Given the description of an element on the screen output the (x, y) to click on. 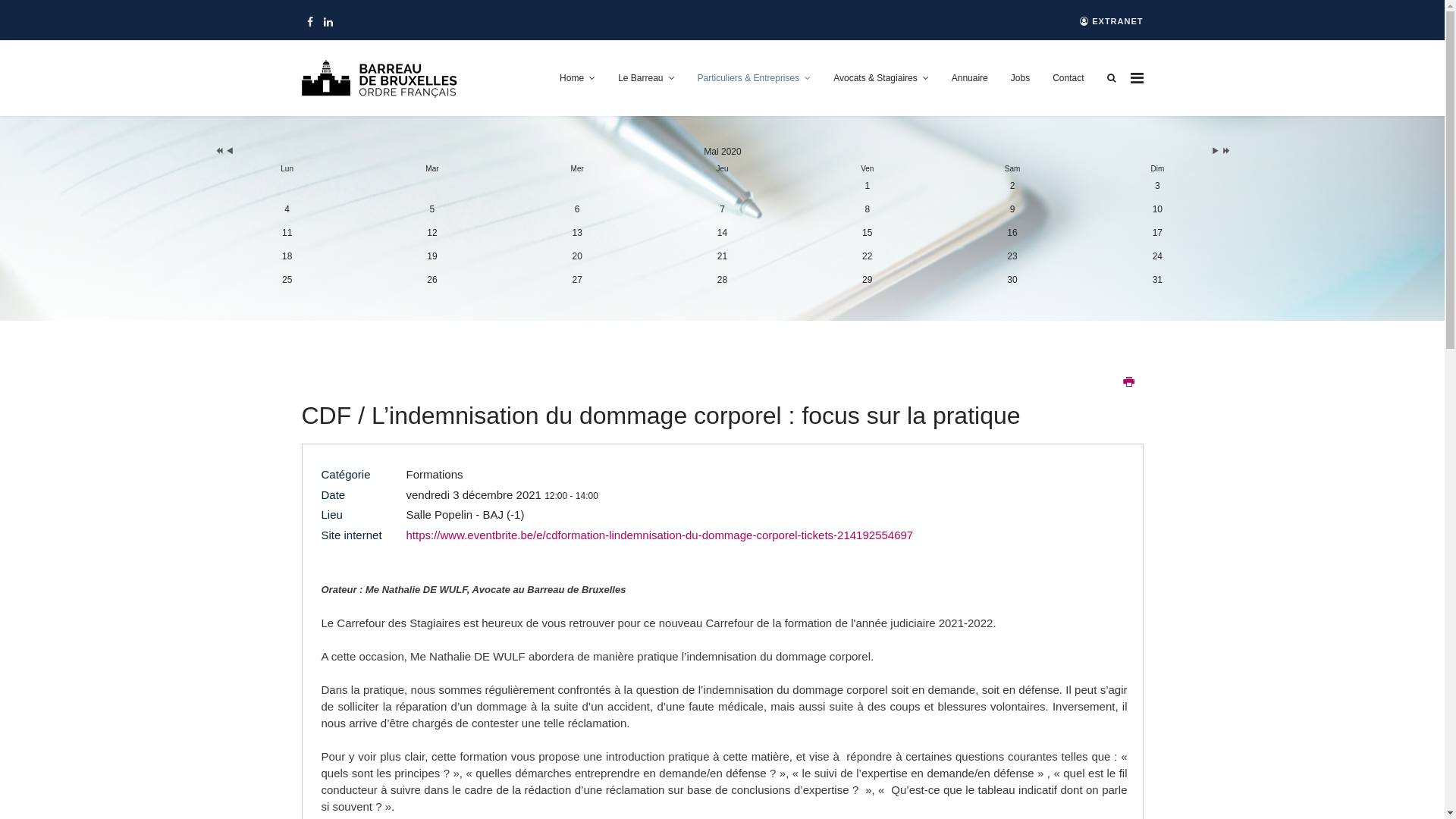
Contact Element type: text (1068, 78)
Particuliers & Entreprises Element type: text (753, 78)
Navigation Element type: hover (1135, 77)
Annuaire Element type: text (969, 78)
EXTRANET Element type: text (1110, 21)
Avocats & Stagiaires Element type: text (881, 78)
Mois suivant Element type: text (1215, 151)
Le Barreau Element type: text (645, 78)
Home Element type: text (577, 78)
Jobs Element type: text (1020, 78)
